Given the description of an element on the screen output the (x, y) to click on. 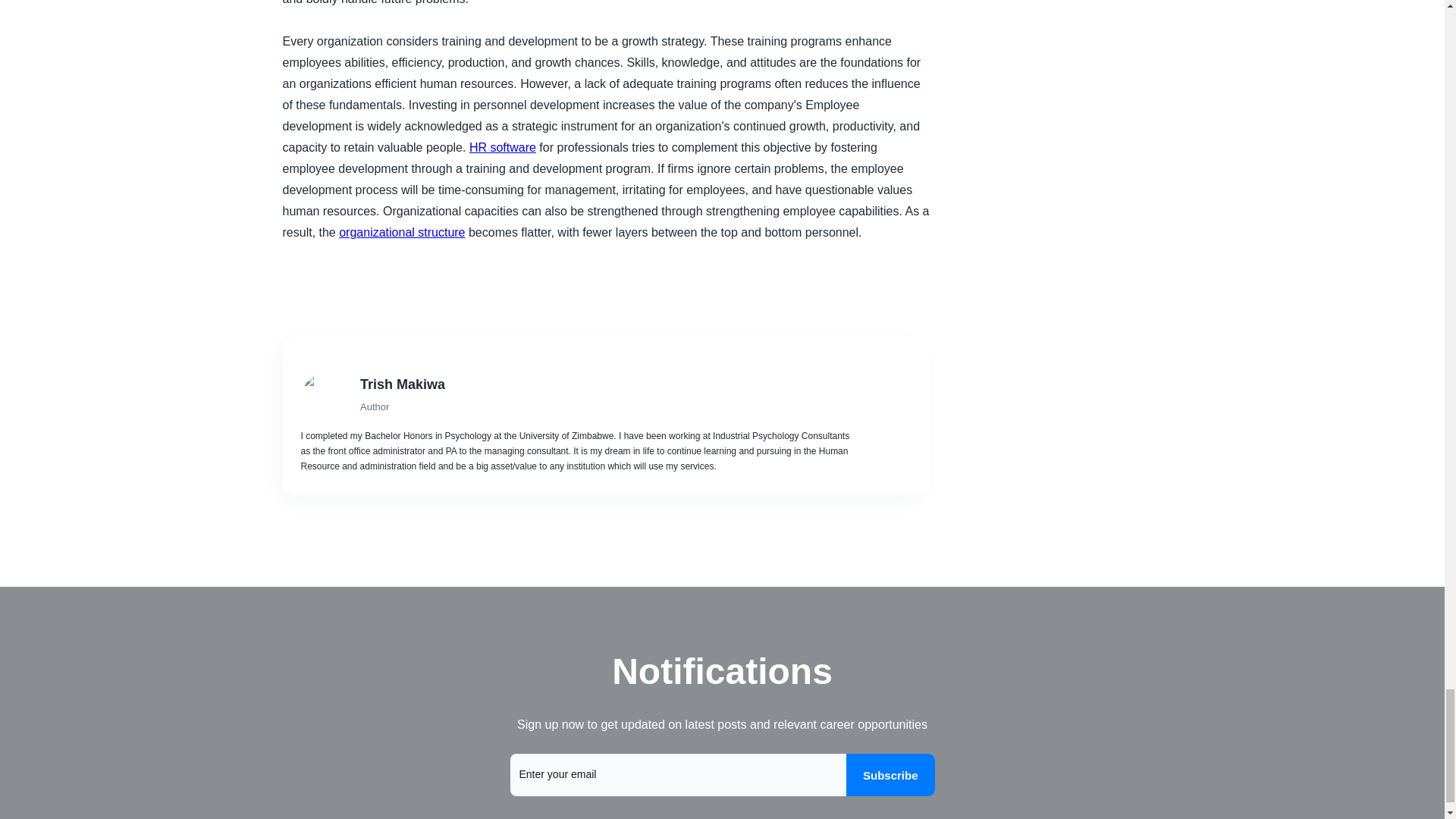
HR software (501, 146)
Subscribe (889, 774)
organizational structure (401, 232)
Trish Makiwa (608, 383)
